Given the description of an element on the screen output the (x, y) to click on. 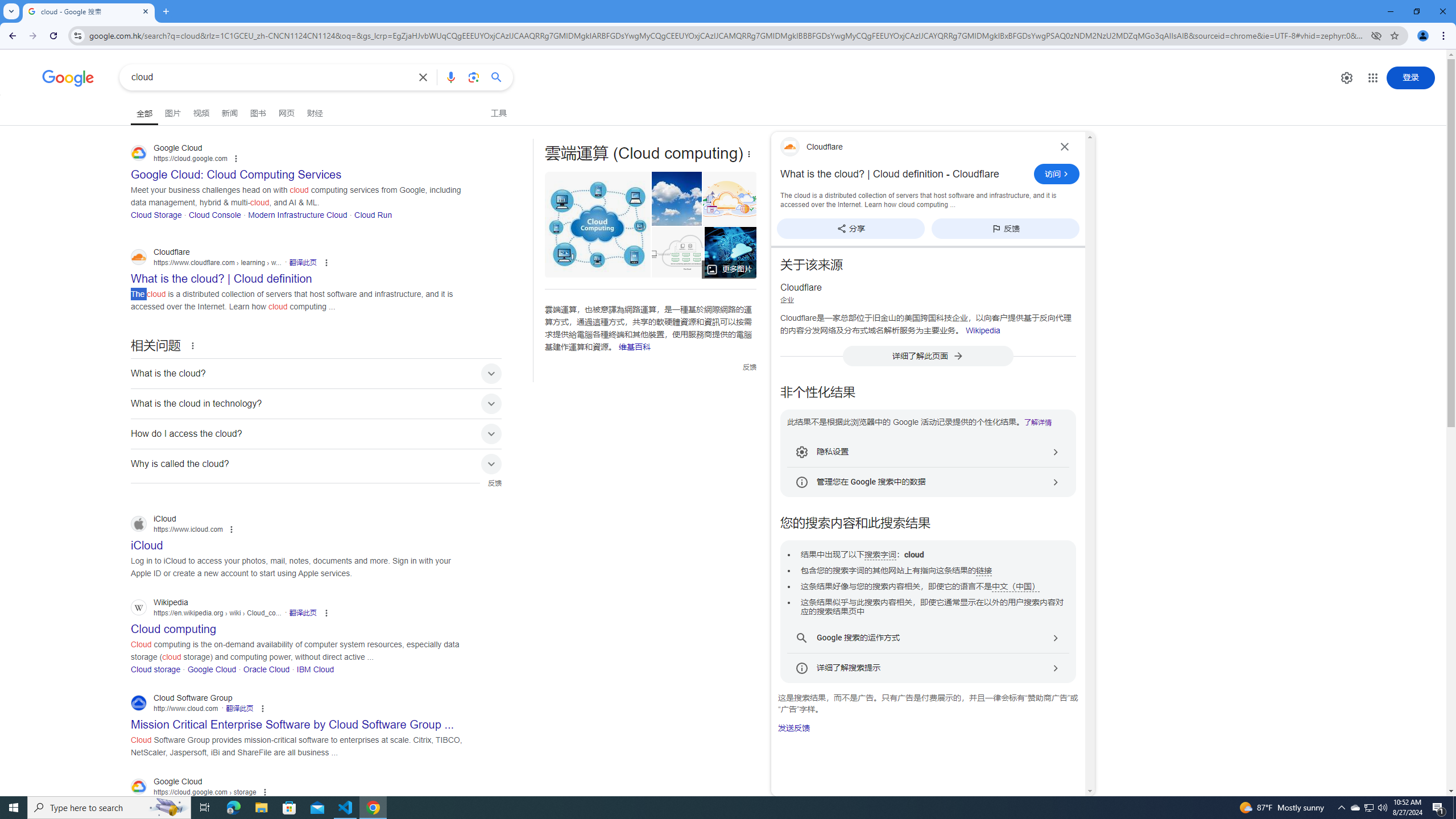
Connectivity Cloud | Cloudflare (730, 198)
Cloud Console (214, 214)
Oracle Cloud (266, 669)
Cloudflare (913, 146)
What is the cloud in technology? (316, 403)
